Given the description of an element on the screen output the (x, y) to click on. 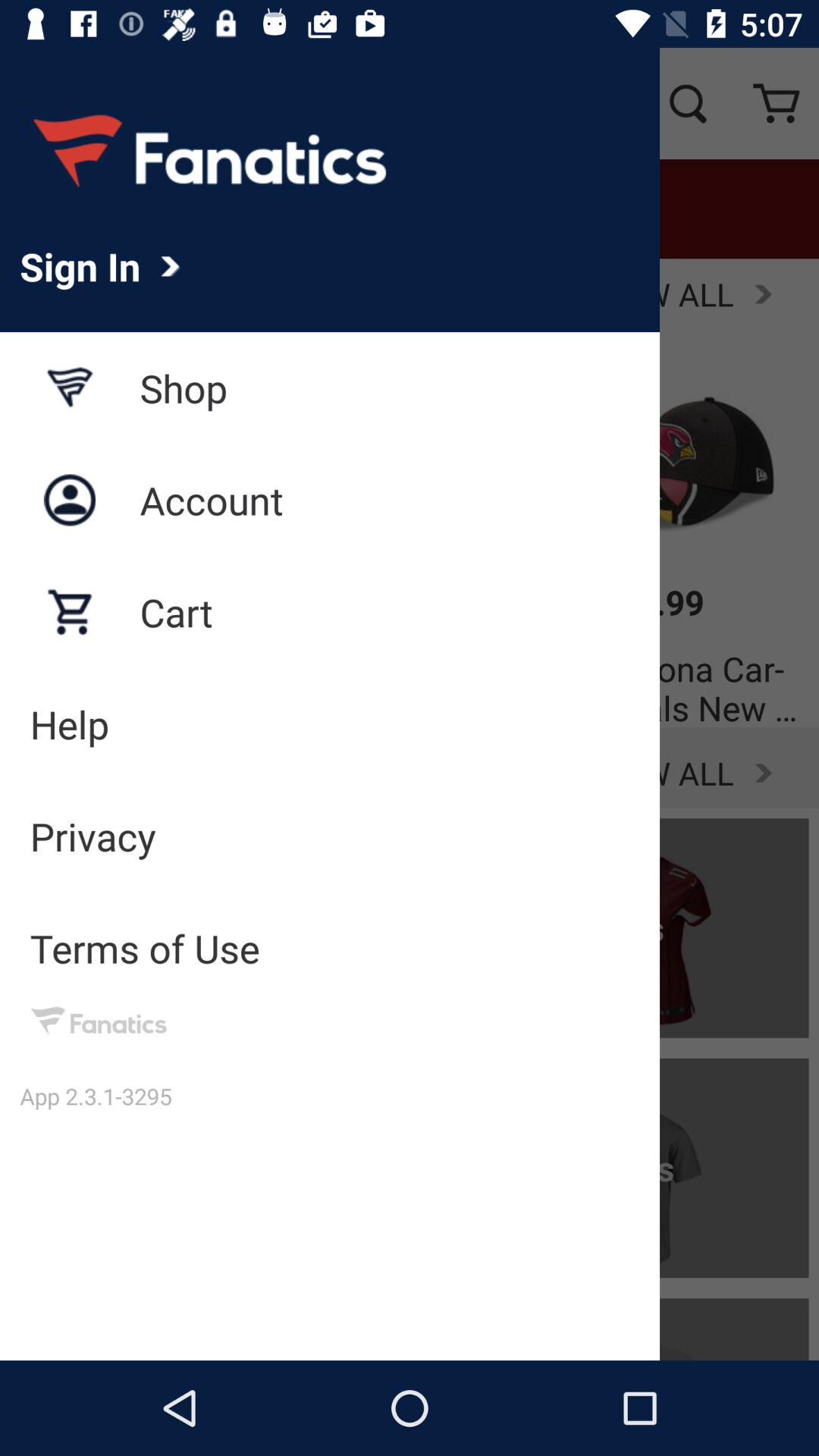
click the search icon at top right corner of the page (687, 103)
